Given the description of an element on the screen output the (x, y) to click on. 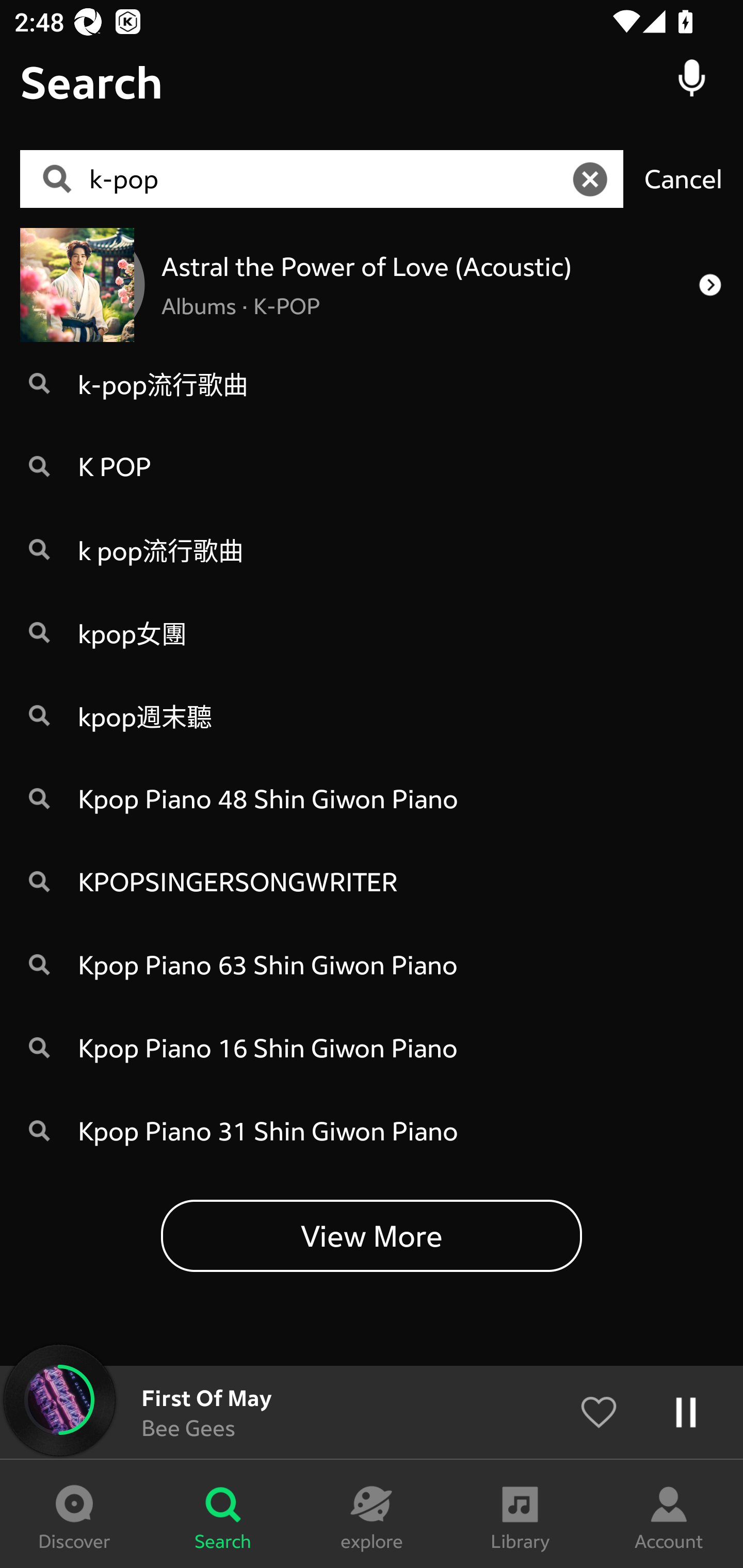
Cancel (683, 178)
k-pop (327, 179)
Astral the Power of Love (Acoustic) Albums · K-POP (371, 284)
k-pop流行歌曲 (371, 382)
K POP (371, 466)
k pop流行歌曲 (371, 549)
kpop女團 (371, 632)
kpop週末聽 (371, 715)
Kpop Piano 48 Shin Giwon Piano (371, 798)
KPOPSINGERSONGWRITER (371, 881)
Kpop Piano 63 Shin Giwon Piano (371, 964)
Kpop Piano 16 Shin Giwon Piano (371, 1047)
Kpop Piano 31 Shin Giwon Piano (371, 1130)
View More (371, 1235)
First Of May Bee Gees (371, 1412)
Discover (74, 1513)
explore (371, 1513)
Library (519, 1513)
Account (668, 1513)
